Given the description of an element on the screen output the (x, y) to click on. 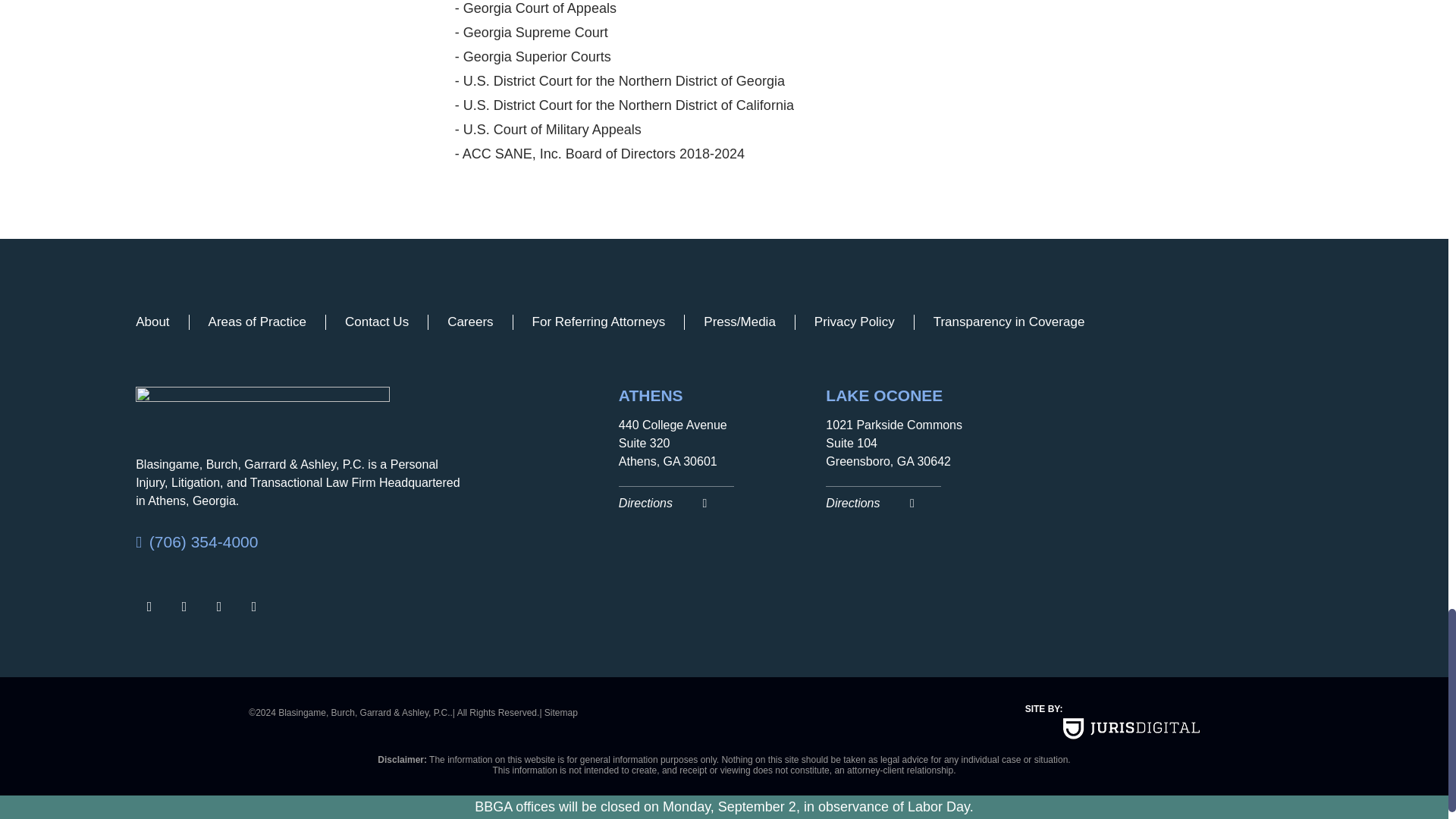
Click Here For Directions (921, 499)
Click Here For Directions (714, 499)
Call (301, 542)
